Given the description of an element on the screen output the (x, y) to click on. 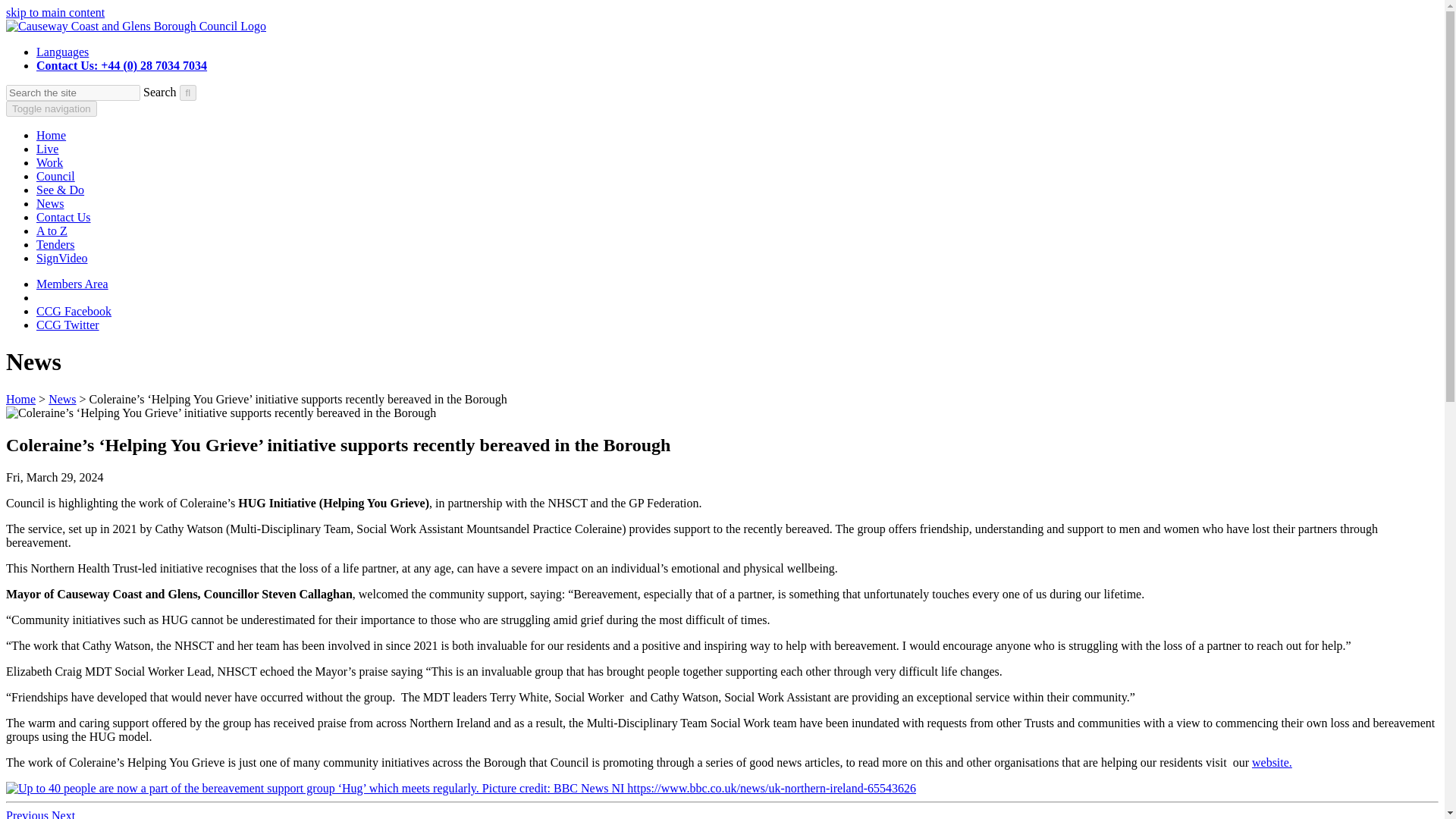
Homepage Link (135, 25)
Council (55, 175)
Skip to Main Content (54, 11)
Next (62, 814)
Contact Us (63, 216)
SignVideo (61, 257)
A to Z (51, 230)
Languages (62, 51)
Home (19, 399)
